Given the description of an element on the screen output the (x, y) to click on. 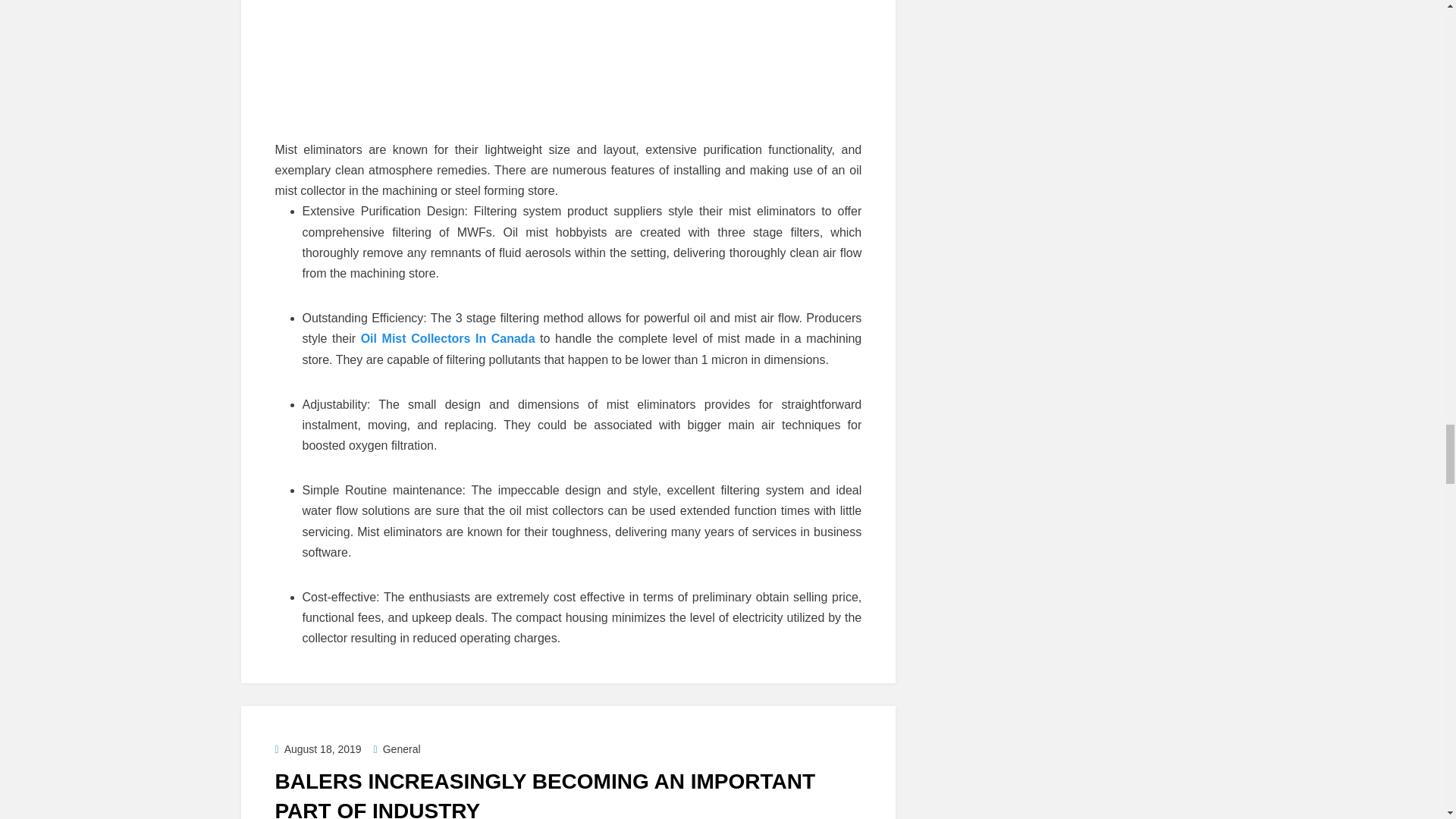
Oil Mist Collectors In Canada (448, 338)
General (397, 748)
